Given the description of an element on the screen output the (x, y) to click on. 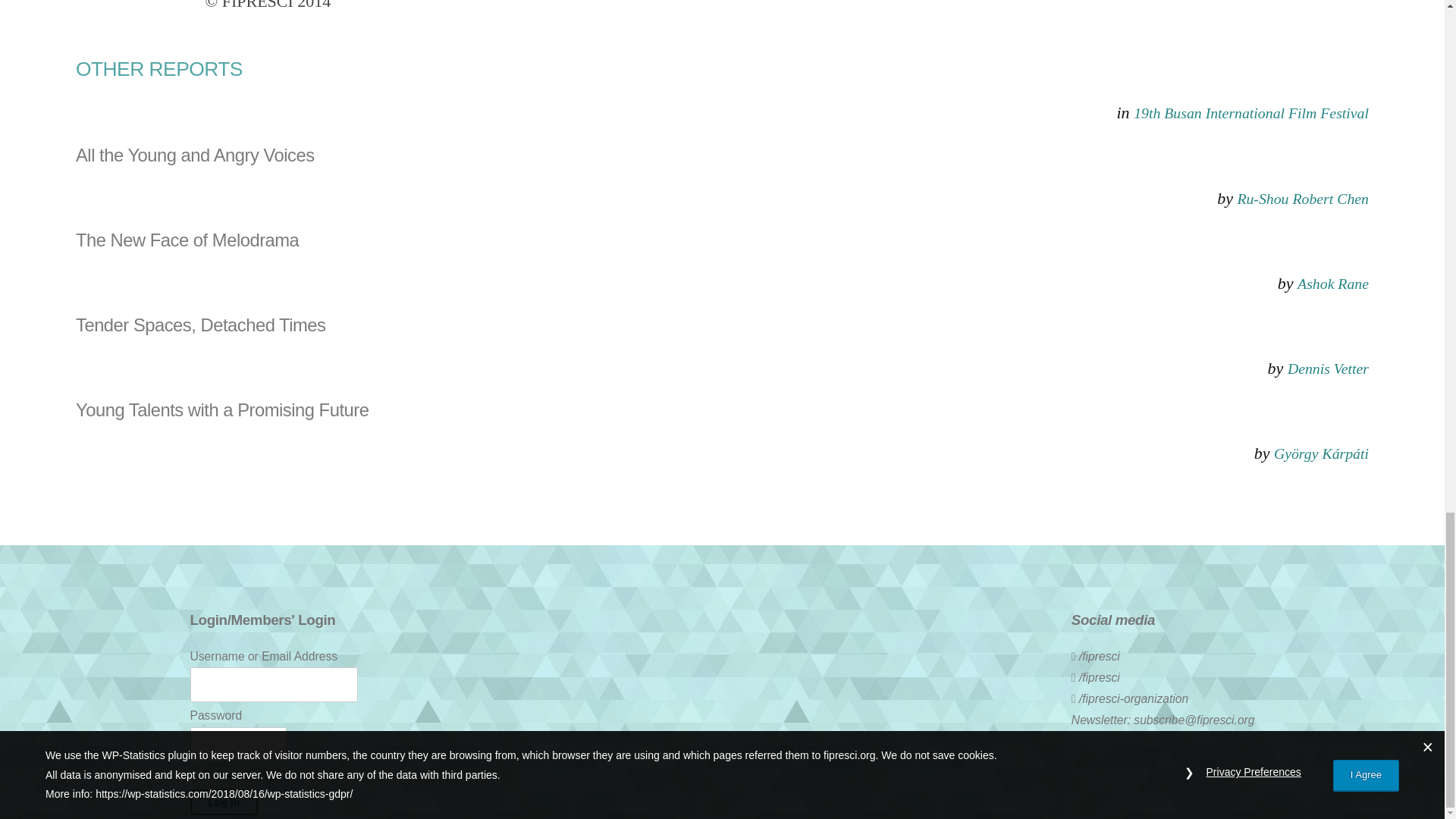
19th Busan International Film Festival (1251, 112)
forever (194, 774)
Log In (223, 801)
Dennis Vetter (1327, 368)
Ru-Shou Robert Chen (1302, 198)
Log In (223, 801)
The New Face of Melodrama (721, 240)
Tender Spaces, Detached Times (721, 325)
Young Talents with a Promising Future (721, 410)
All the Young and Angry Voices (721, 155)
Ashok Rane (1332, 283)
